Given the description of an element on the screen output the (x, y) to click on. 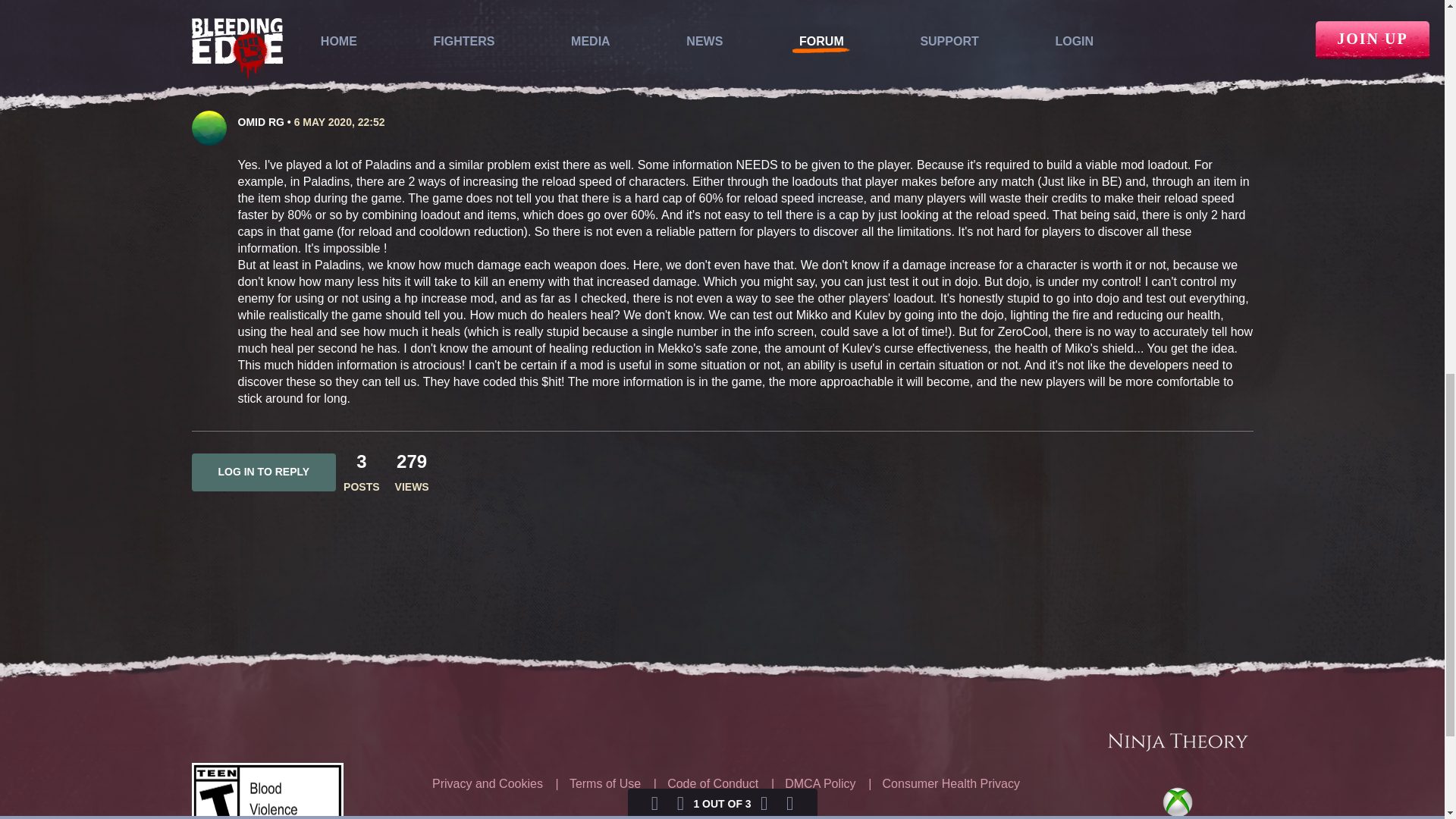
3 (361, 461)
279 (411, 461)
6 May 2020, 22:52 (339, 121)
Offline (226, 118)
6 MAY 2020, 22:52 (339, 121)
OMID RG (260, 121)
